Given the description of an element on the screen output the (x, y) to click on. 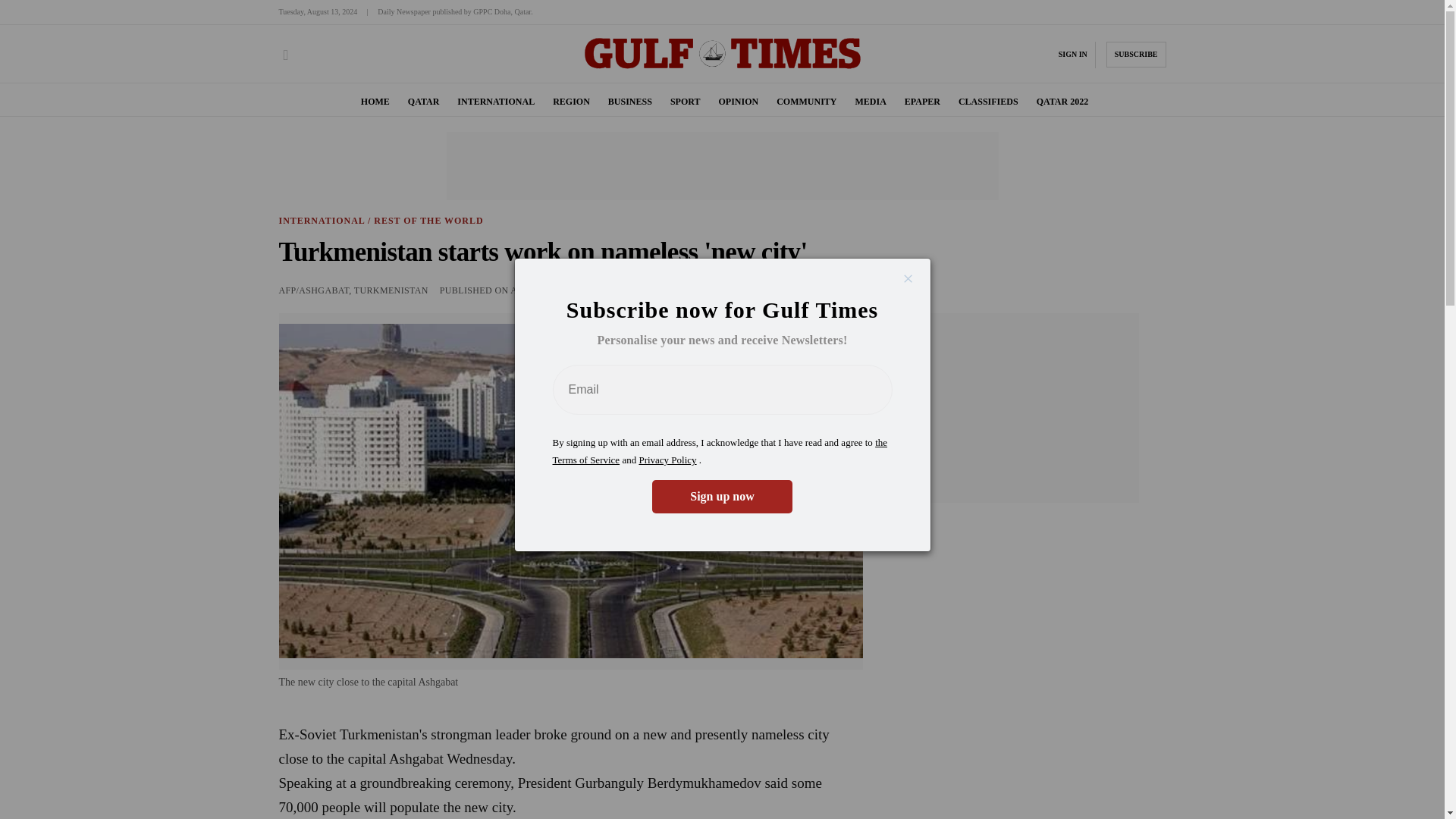
whatsapp share (852, 289)
REGION (571, 101)
HOME (375, 101)
SPORT (684, 101)
HOME (375, 101)
International (322, 220)
INTERNATIONAL (495, 101)
QATAR 2022 (1062, 101)
BUSINESS (630, 101)
INTERNATIONAL (322, 220)
